Given the description of an element on the screen output the (x, y) to click on. 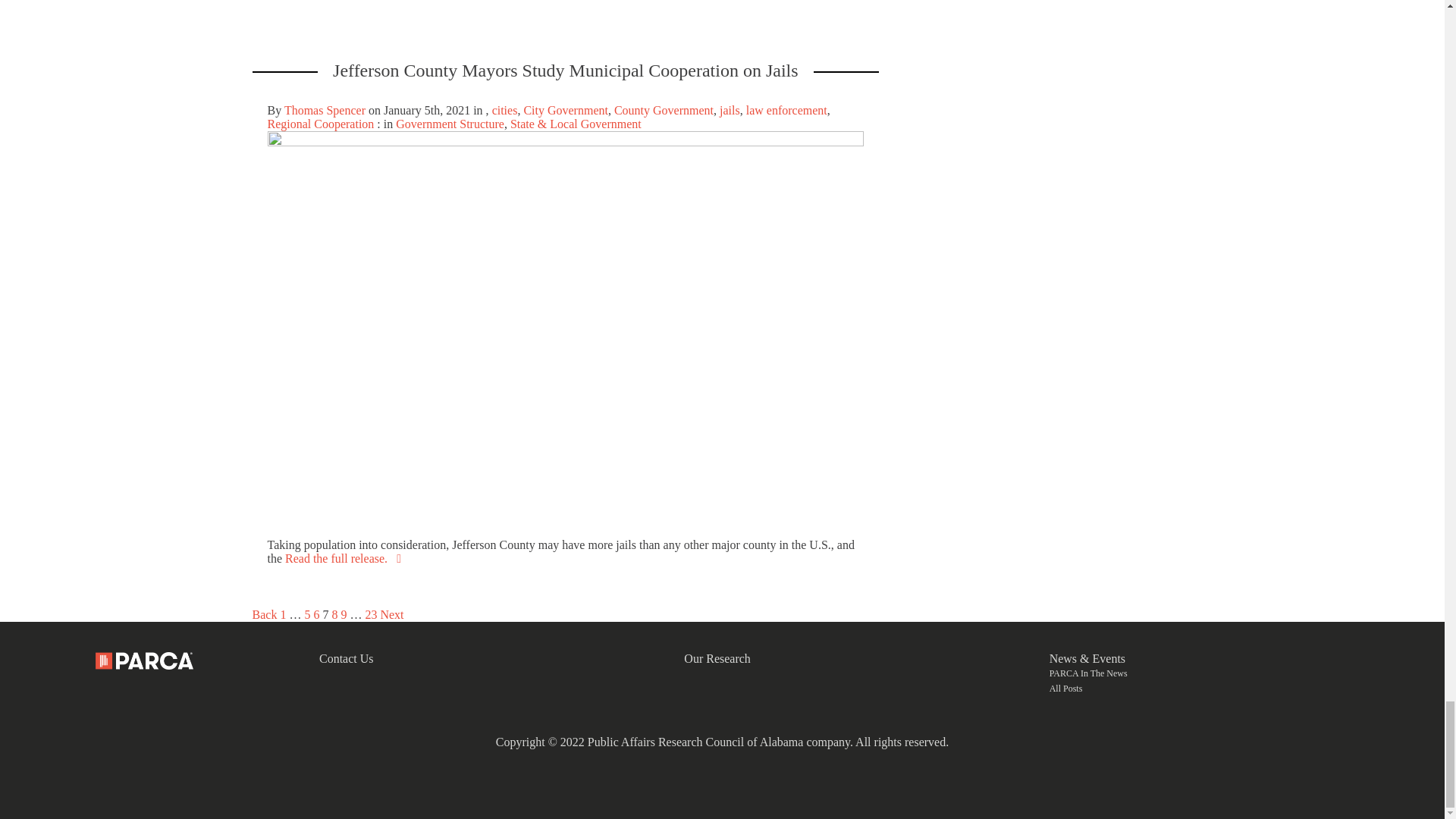
Public Affairs Research Council of Alabama (143, 661)
Posts by Thomas Spencer (324, 110)
